Given the description of an element on the screen output the (x, y) to click on. 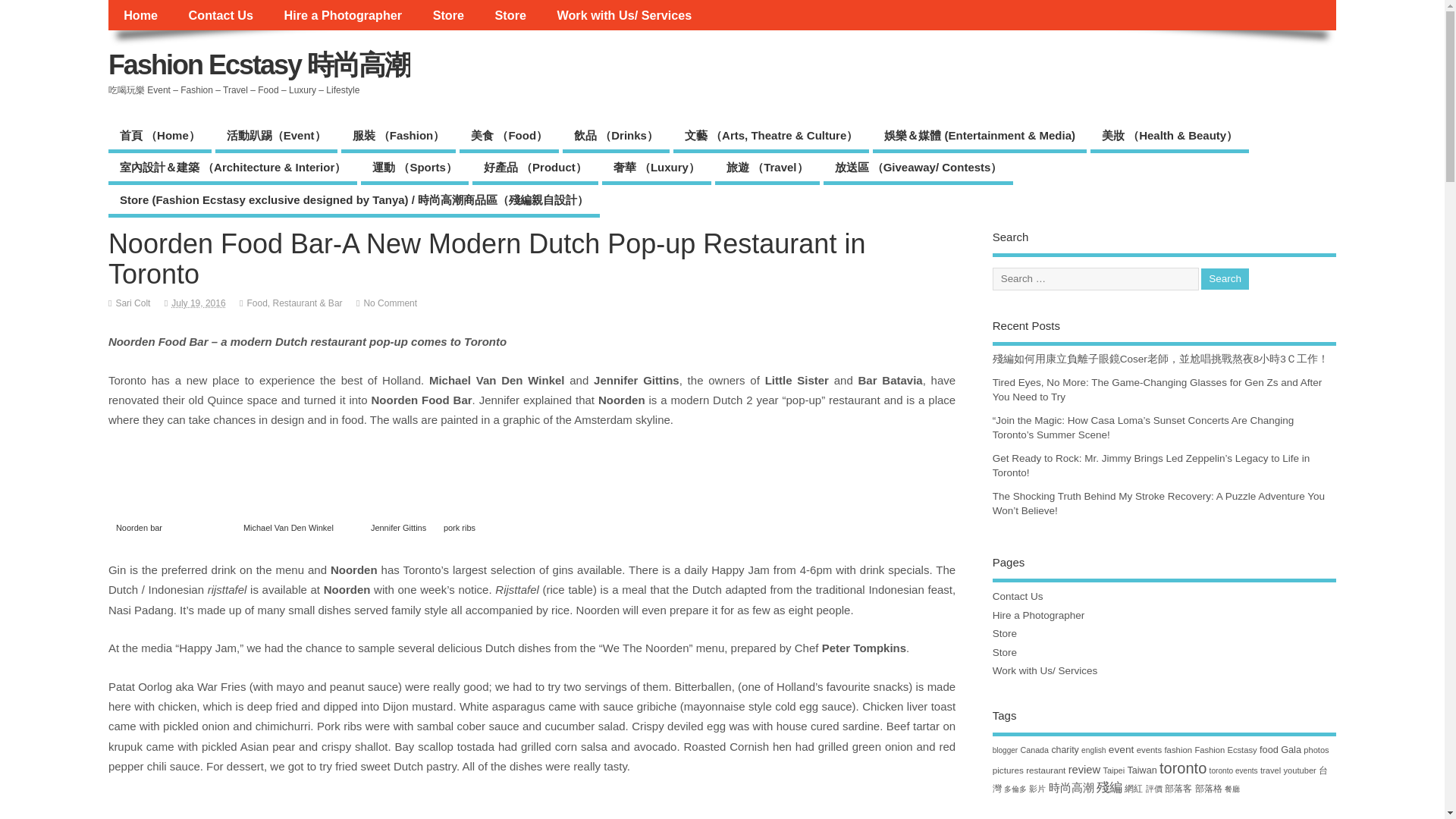
Noorden Dutch restaurant (500, 496)
Search (1225, 279)
Noorden Dutch restaurant (487, 807)
Hire a Photographer (341, 15)
Michael Van Den Winkel (299, 496)
Home (140, 15)
Store (447, 15)
Posts by Sari Colt (132, 303)
Contact Us (220, 15)
Noorden modern Dutch food (172, 496)
